Given the description of an element on the screen output the (x, y) to click on. 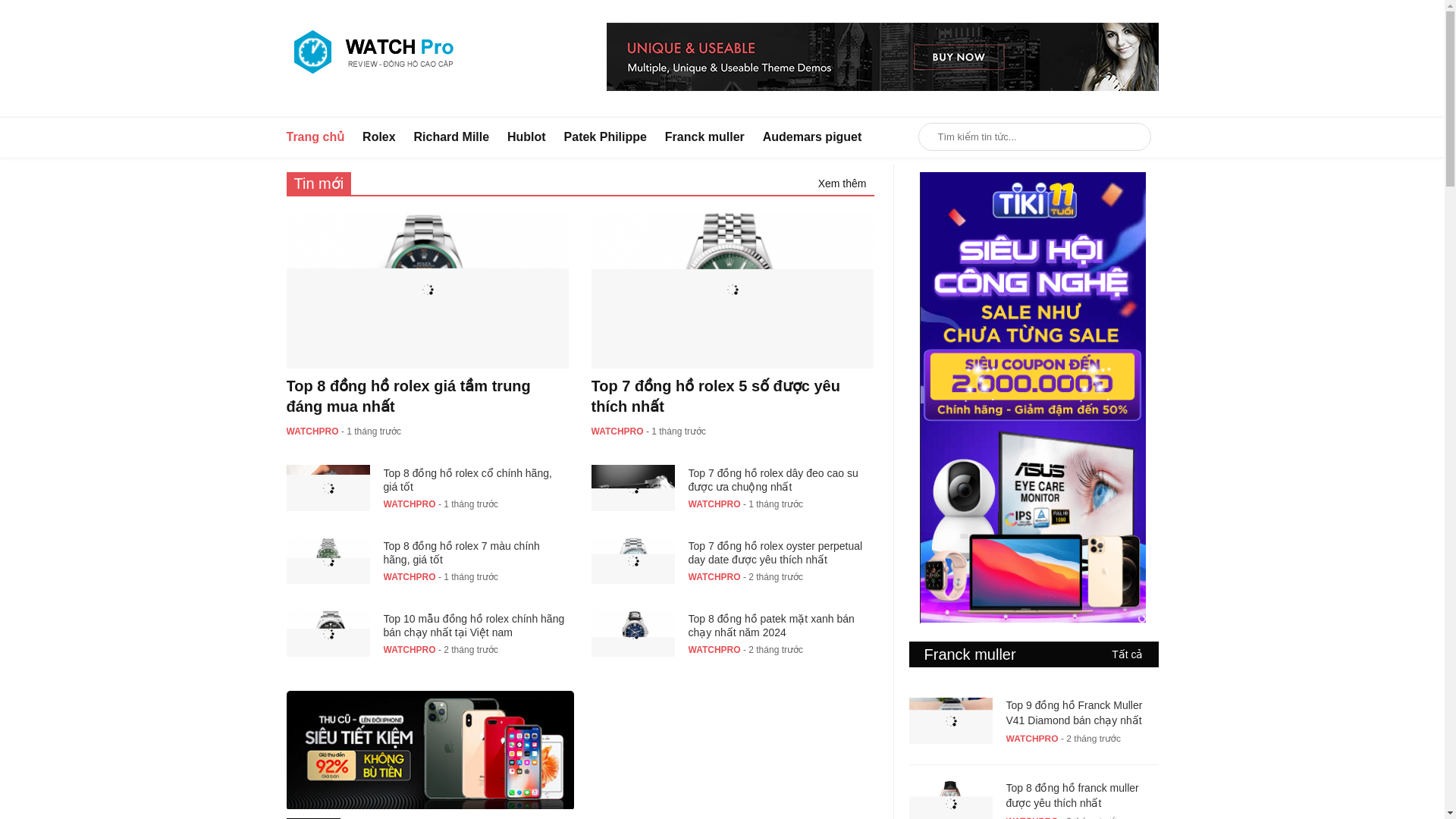
Franck muller (704, 137)
Patek Philippe (605, 137)
Audemars piguet (811, 137)
Hublot (526, 137)
Richard Mille (451, 137)
